Given the description of an element on the screen output the (x, y) to click on. 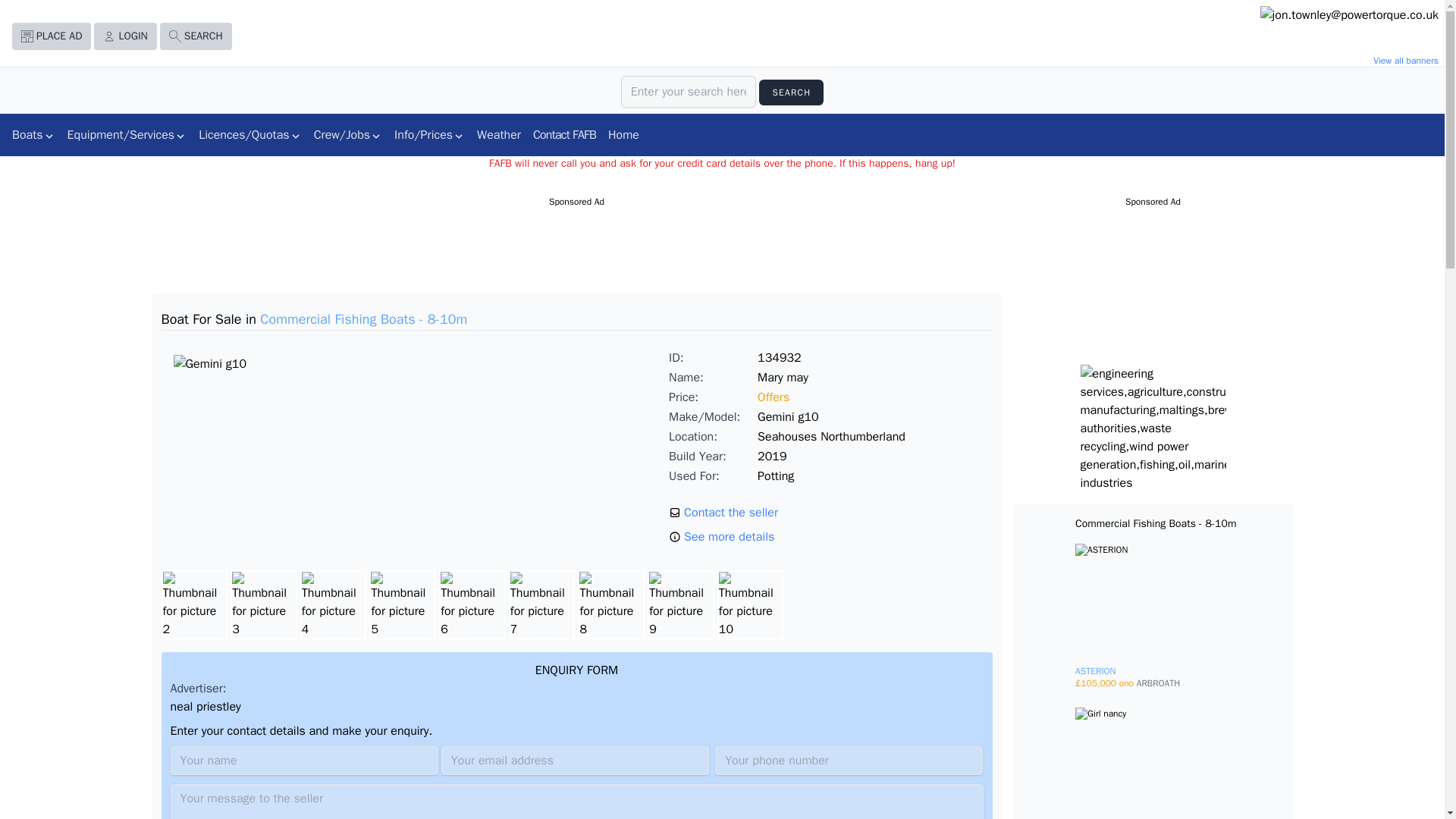
Boats (33, 134)
View all banners (1345, 60)
SEARCH (791, 92)
Banner advertisement (1345, 29)
PLACE AD (50, 38)
Click here to visit advertiser's website (1349, 29)
SEARCH (195, 35)
Banner advertisement (1152, 428)
PLACE AD (50, 35)
LOGIN (124, 38)
